Given the description of an element on the screen output the (x, y) to click on. 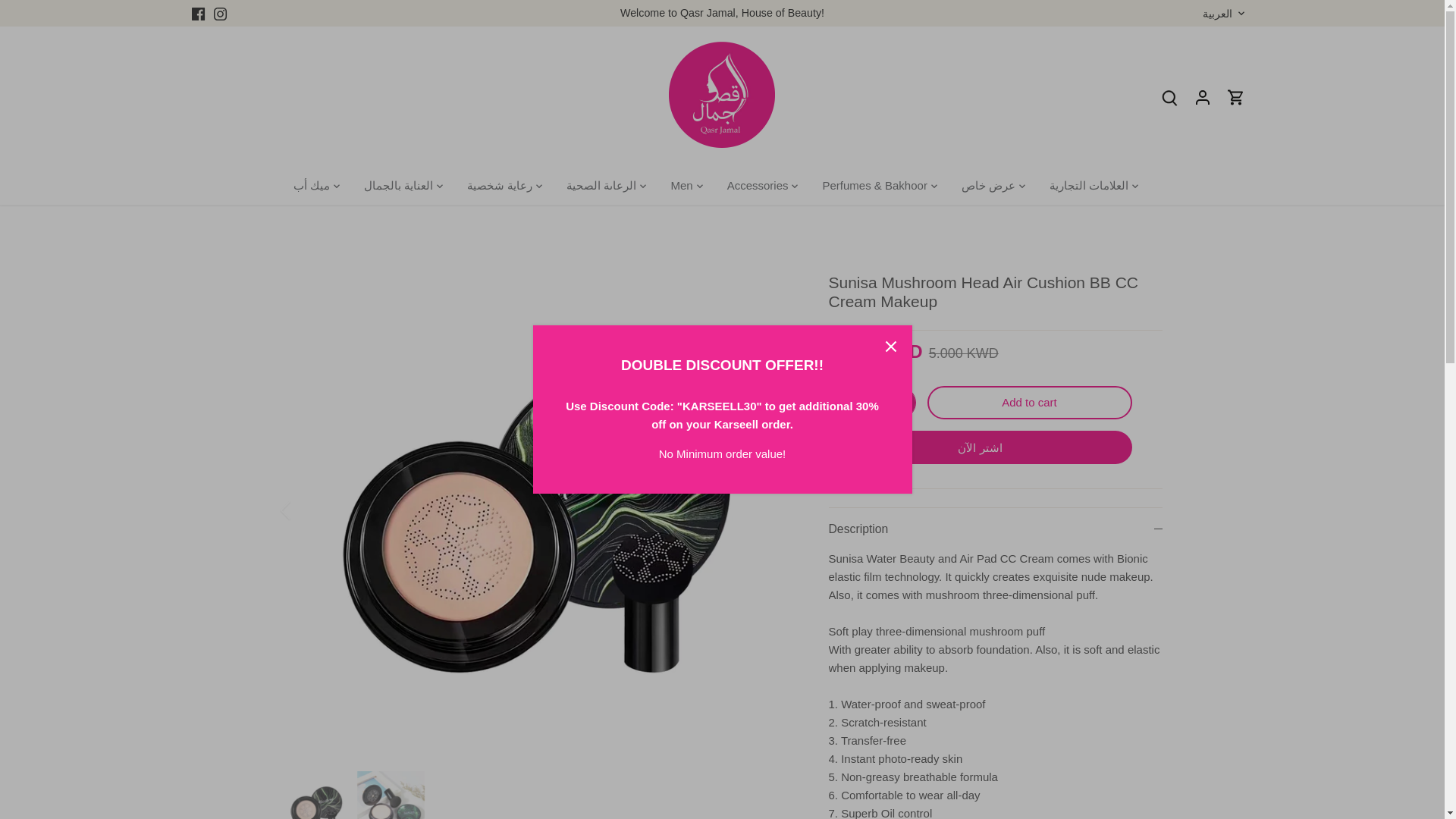
Instagram (220, 13)
1 (872, 402)
Instagram (220, 12)
Facebook (196, 13)
Go to cart (1235, 96)
Facebook (196, 12)
